Given the description of an element on the screen output the (x, y) to click on. 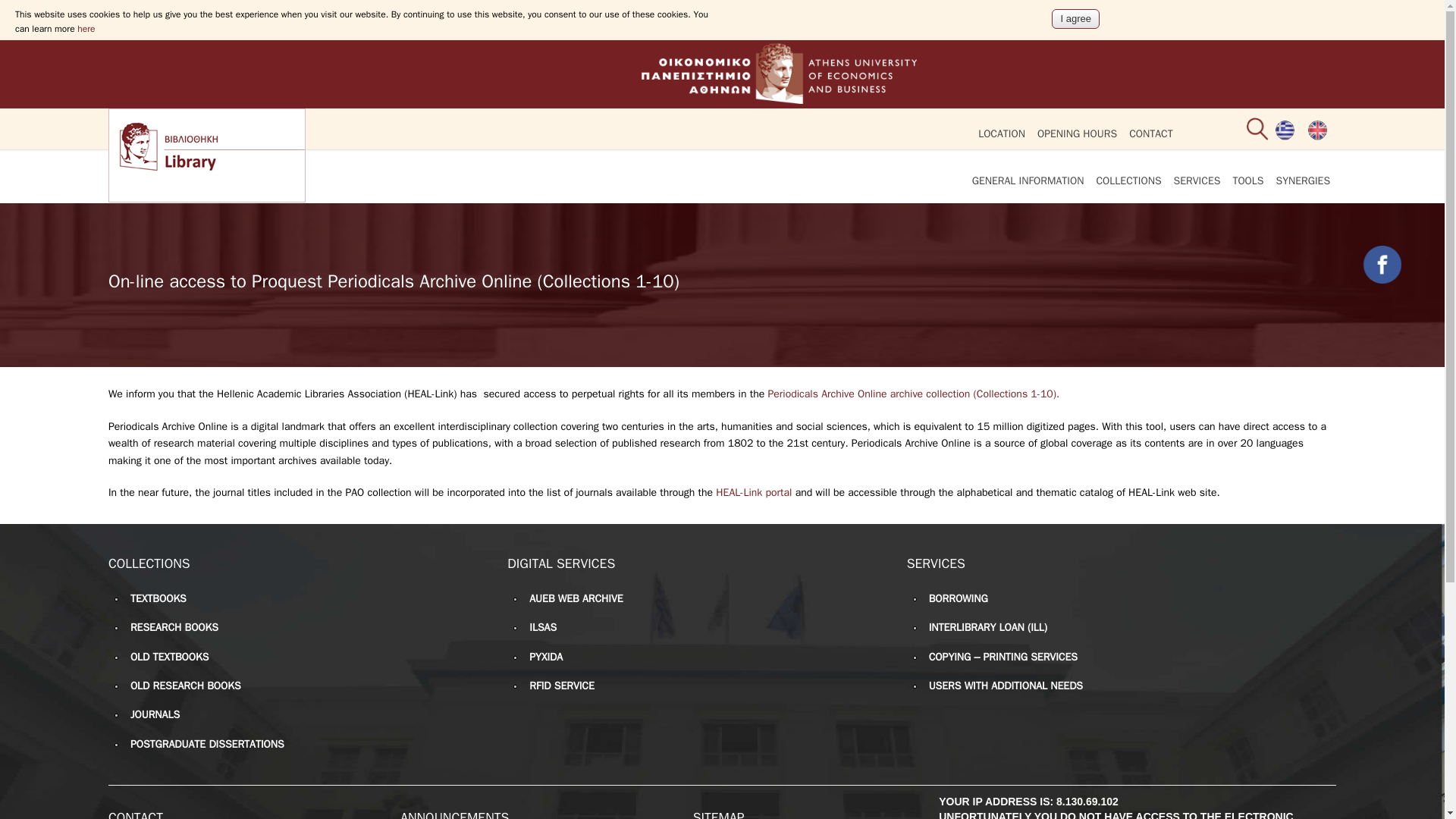
I agree (1075, 18)
GENERAL INFORMATION (1028, 180)
Synergies (1302, 180)
Collections (1128, 180)
General Information (1028, 180)
Services (1197, 180)
I agree (1075, 18)
COLLECTIONS (1128, 180)
English (1316, 130)
Contact (1150, 133)
Home (721, 97)
Tools (1247, 180)
CONTACT (1150, 133)
TOOLS (1247, 180)
SERVICES (1197, 180)
